Given the description of an element on the screen output the (x, y) to click on. 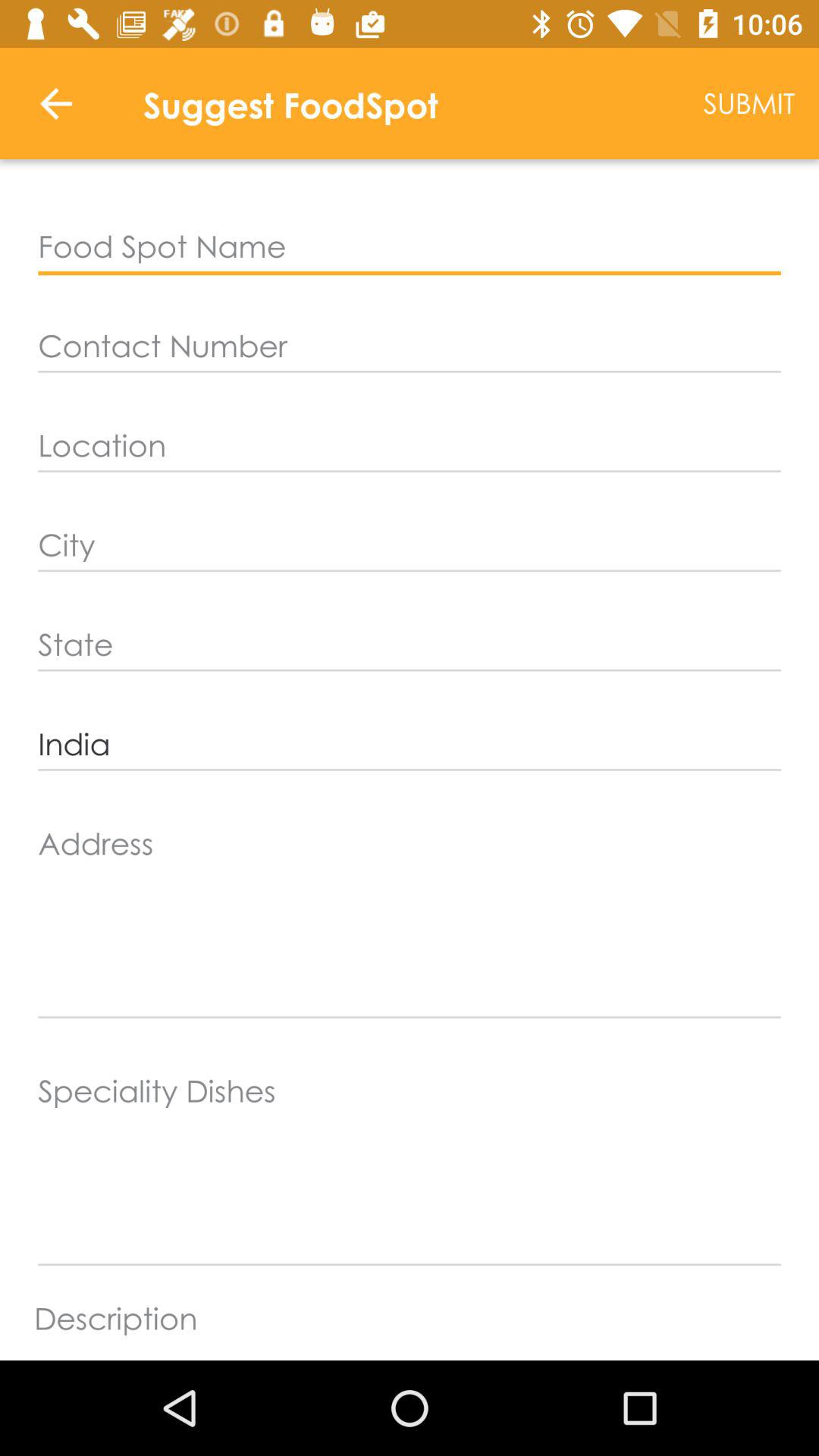
select the item below the india item (409, 917)
